Given the description of an element on the screen output the (x, y) to click on. 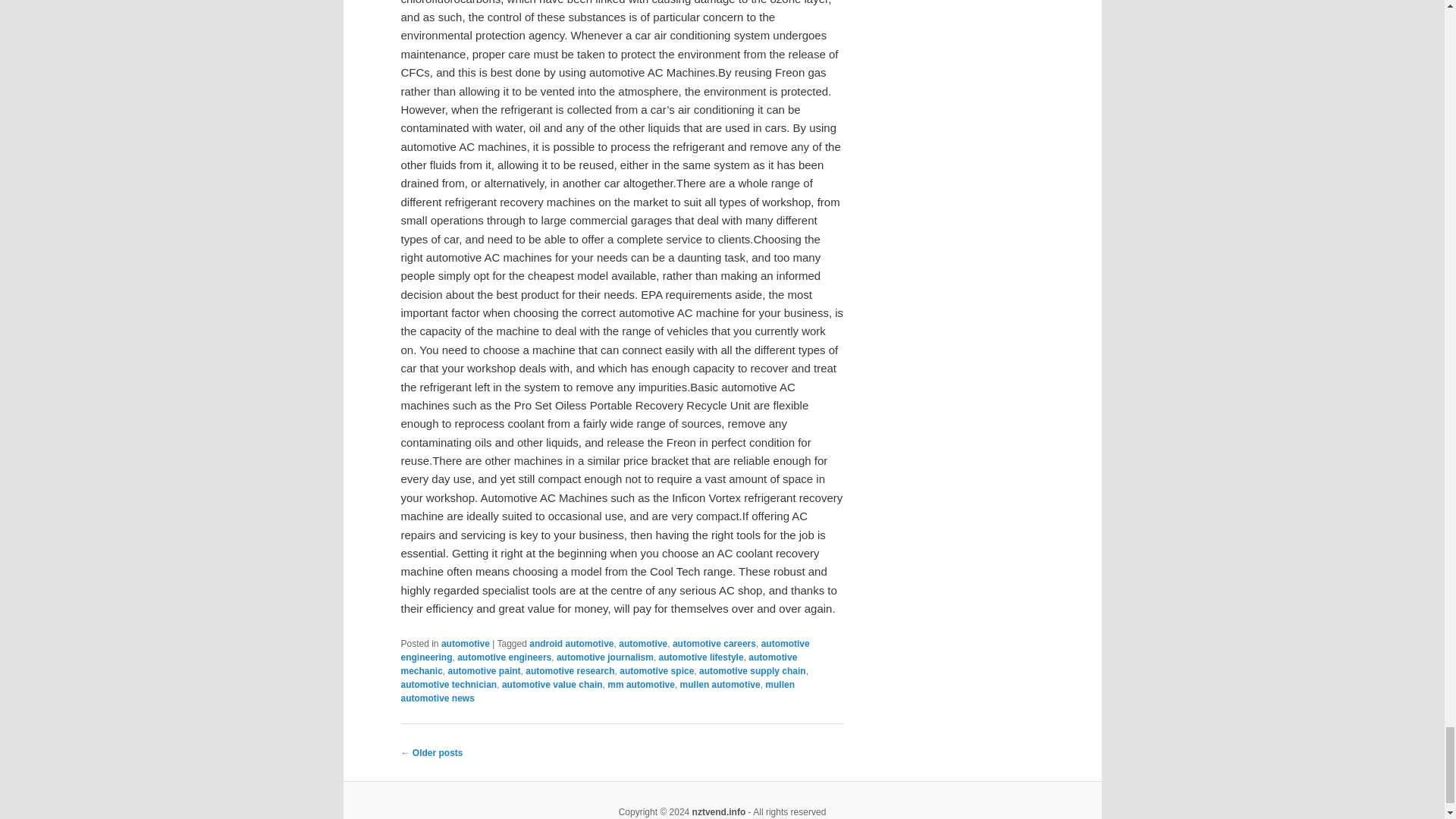
View all posts in automotive (465, 643)
